Given the description of an element on the screen output the (x, y) to click on. 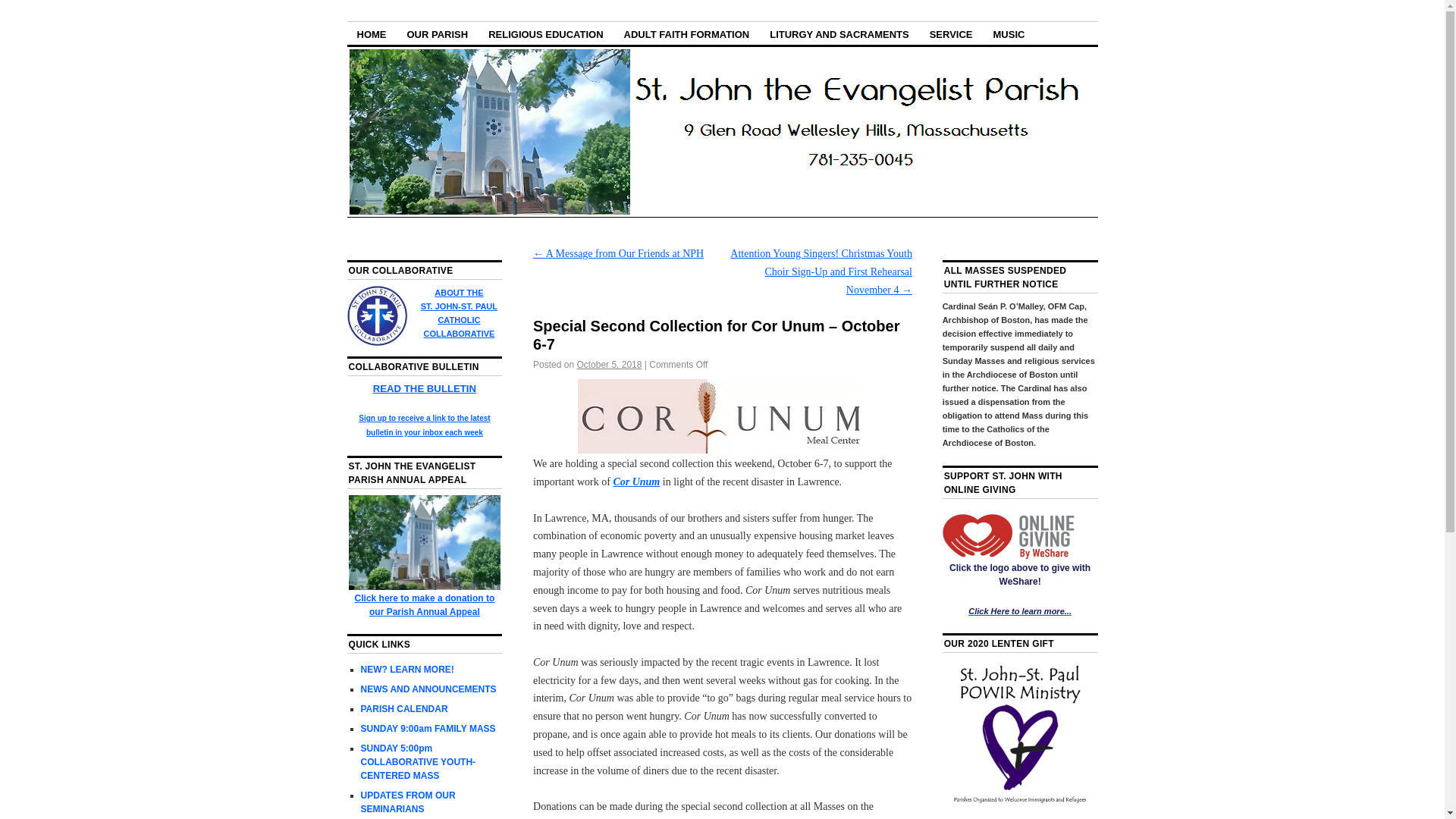
OUR PARISH (438, 33)
3:08 pm (609, 364)
RELIGIOUS EDUCATION (545, 33)
LITURGY AND SACRAMENTS (839, 33)
HOME (371, 33)
ADULT FAITH FORMATION (687, 33)
